Given the description of an element on the screen output the (x, y) to click on. 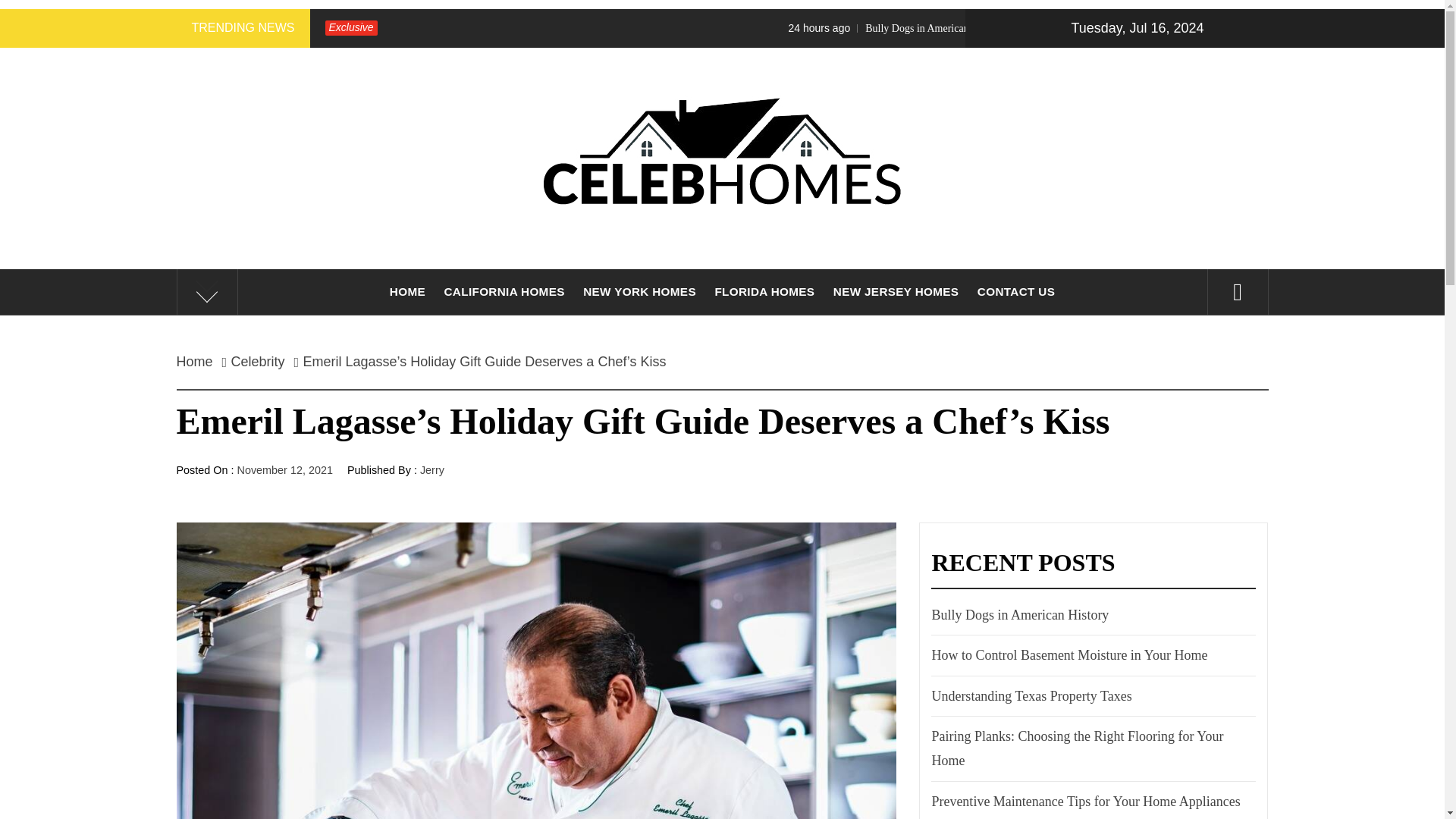
NEW JERSEY HOMES (895, 291)
CONTACT US (1015, 291)
CELEBRITY HOMES (721, 287)
CALIFORNIA HOMES (504, 291)
Home (198, 361)
NEW YORK HOMES (639, 291)
Search (797, 37)
HOME (406, 291)
24 hours agoBully Dogs in American History (1057, 28)
FLORIDA HOMES (764, 291)
